Given the description of an element on the screen output the (x, y) to click on. 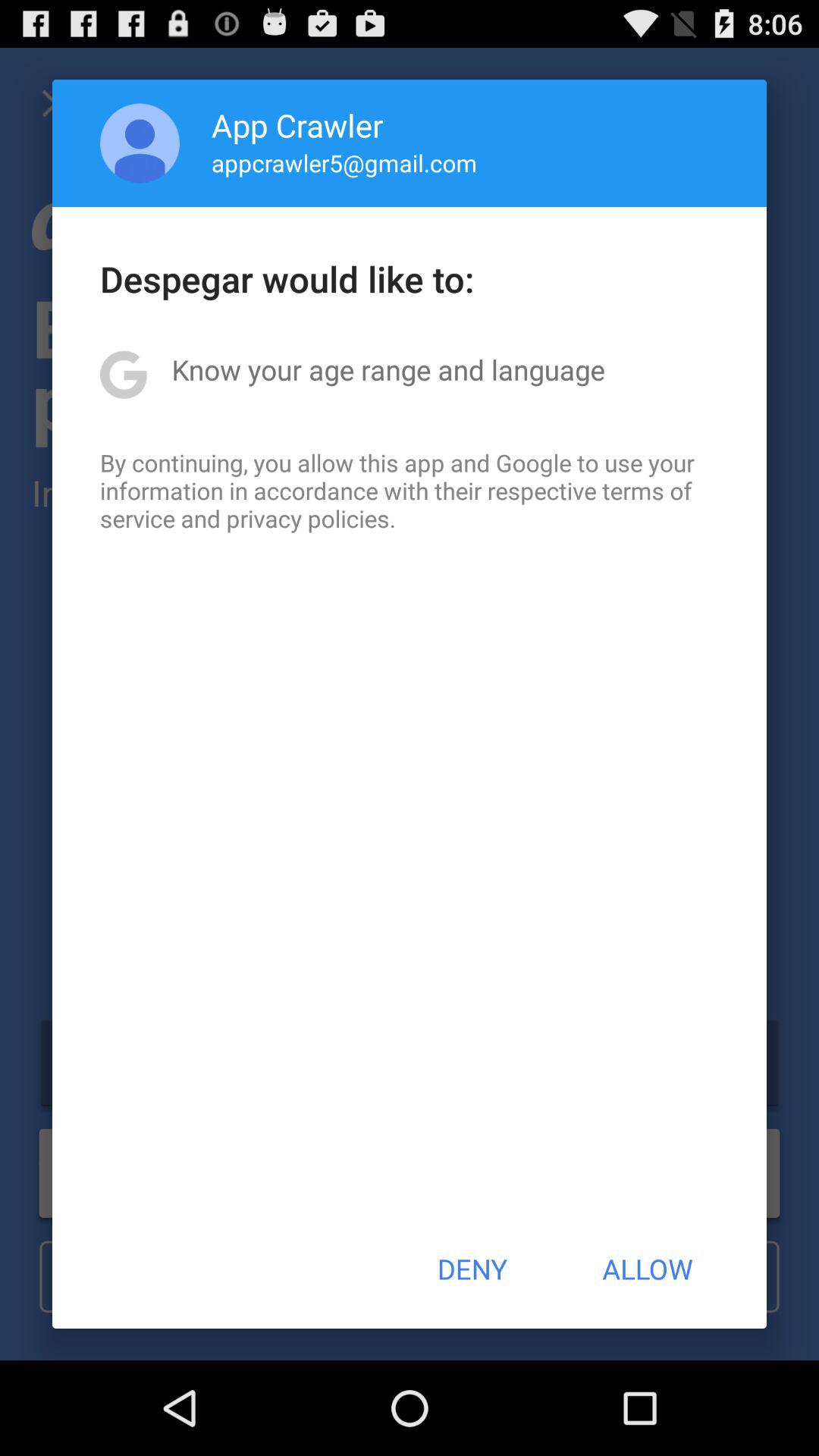
turn on app above despegar would like (344, 162)
